Given the description of an element on the screen output the (x, y) to click on. 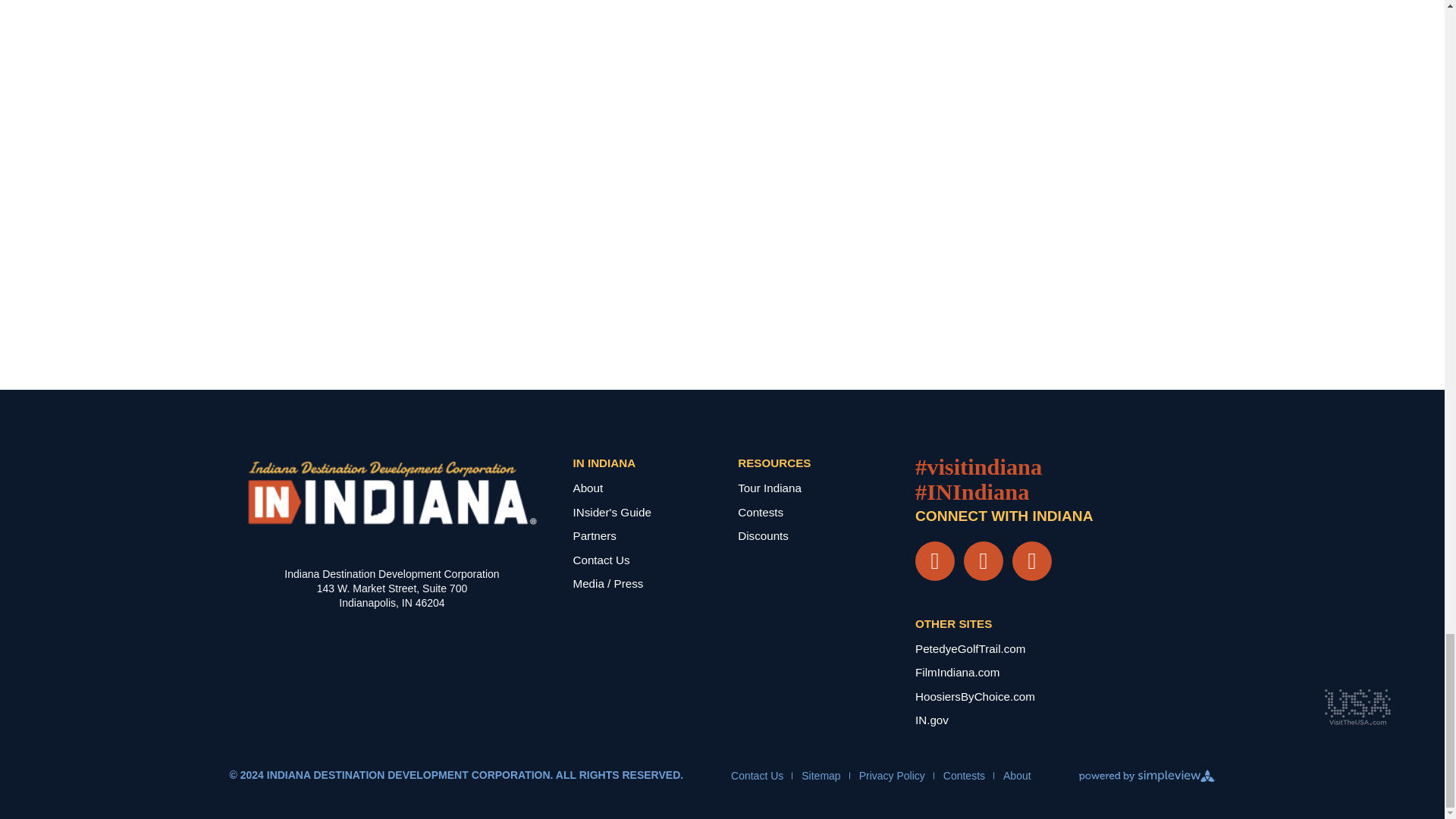
About (1016, 775)
Sitemap (821, 775)
Contests (964, 775)
Privacy Policy (891, 775)
Contact Us (756, 775)
